Given the description of an element on the screen output the (x, y) to click on. 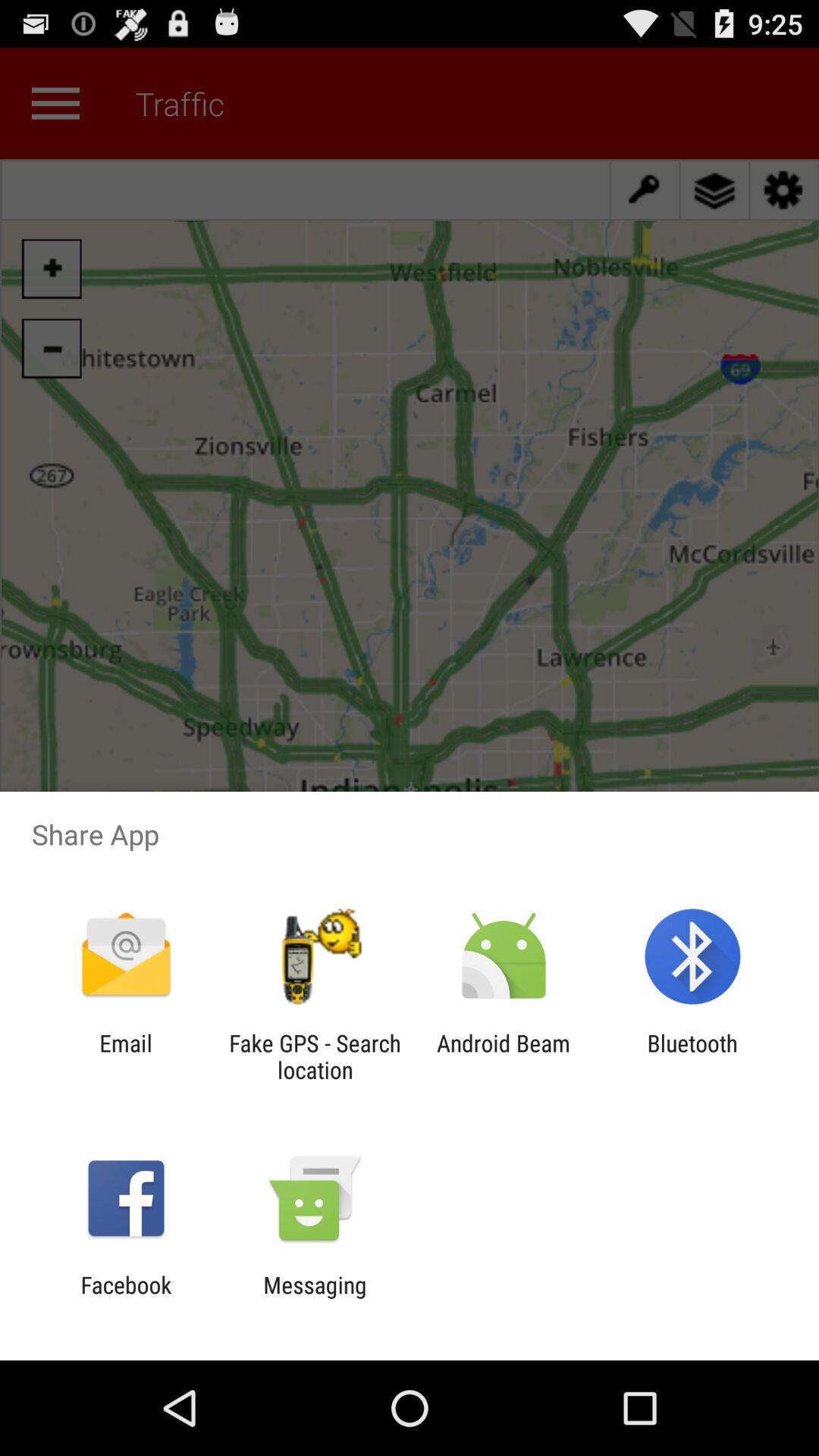
turn off item to the left of the android beam item (314, 1056)
